Given the description of an element on the screen output the (x, y) to click on. 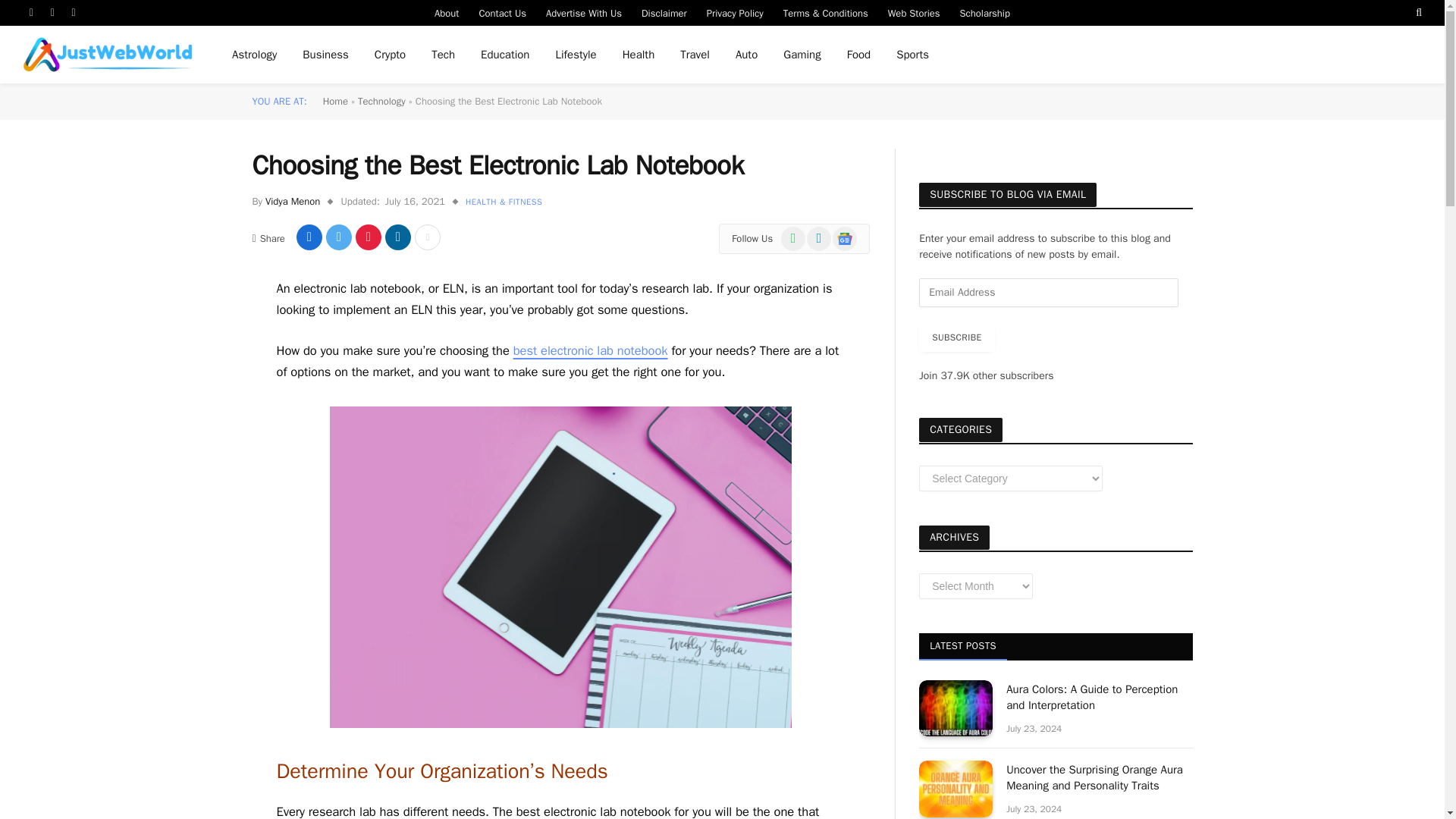
About (446, 12)
Disclaimer (664, 12)
Show More Social Sharing (427, 237)
Travel (694, 54)
Contact Us (501, 12)
Business (325, 54)
Health (639, 54)
Privacy Policy (735, 12)
Gaming (801, 54)
JustWebWorld (107, 54)
Posts by Vidya Menon (292, 201)
Web Stories (913, 12)
Scholarship (985, 12)
Share on LinkedIn (397, 237)
Crypto (390, 54)
